Given the description of an element on the screen output the (x, y) to click on. 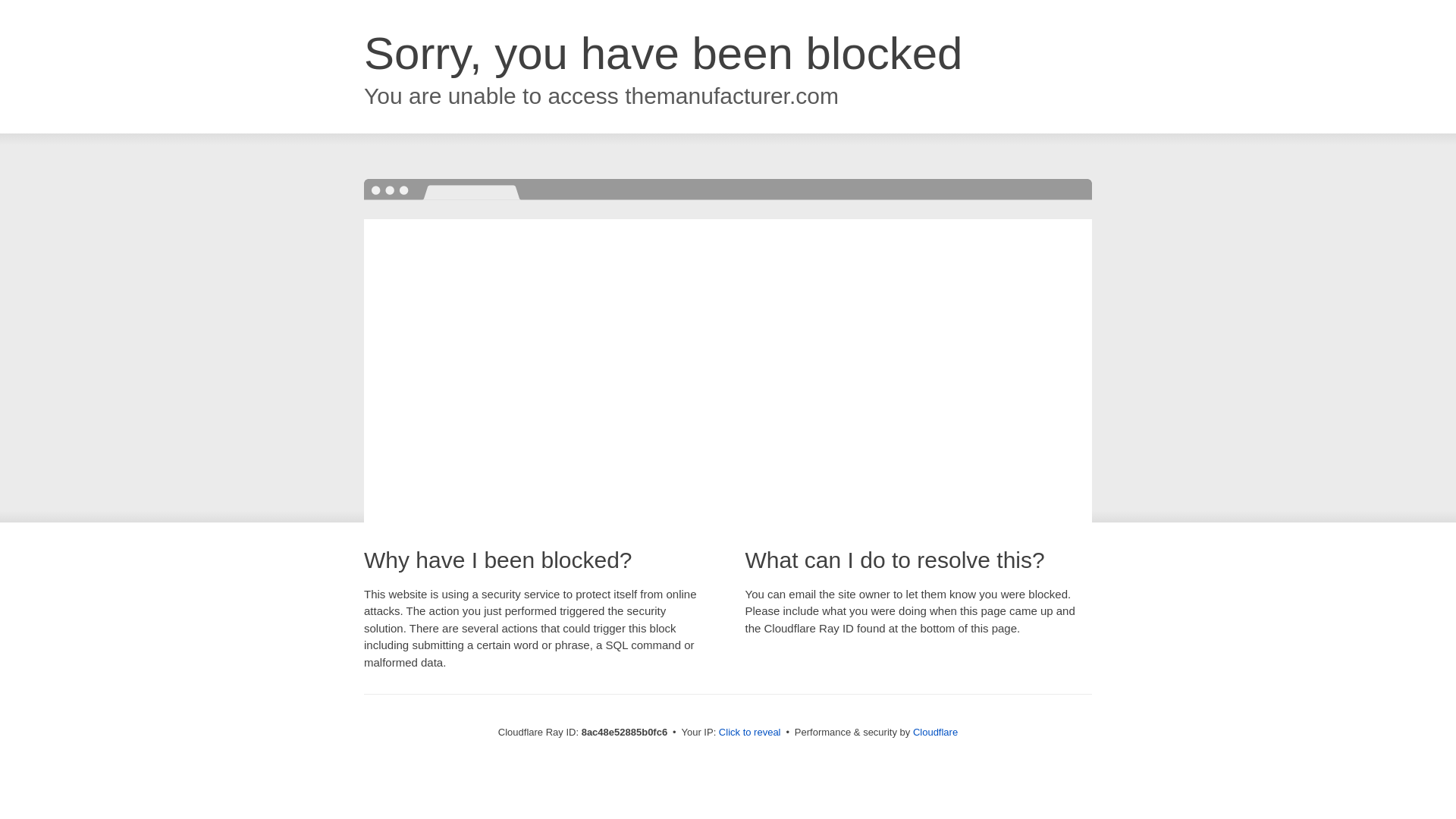
Click to reveal (749, 732)
Cloudflare (935, 731)
